Given the description of an element on the screen output the (x, y) to click on. 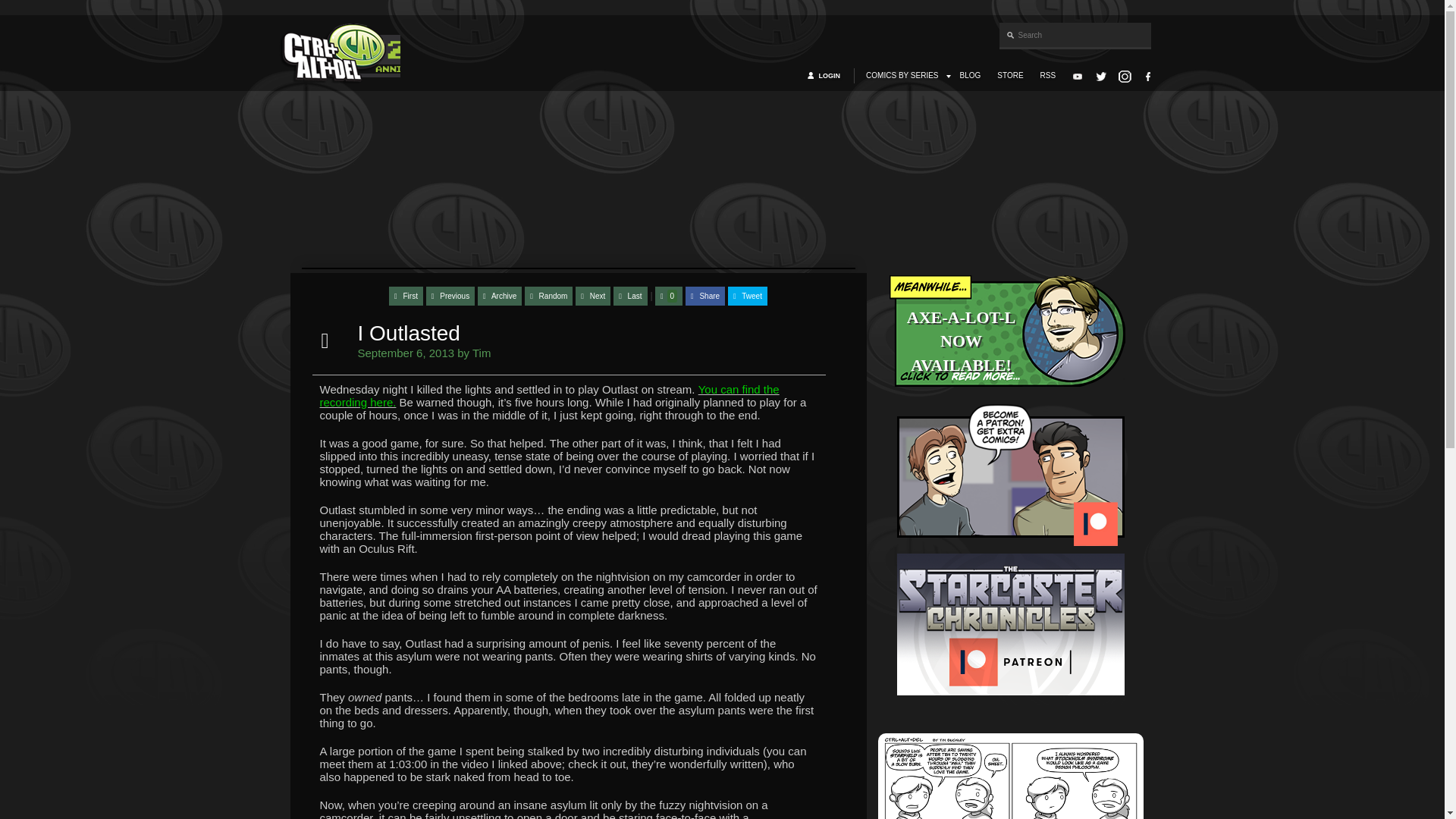
Archive (499, 295)
Blog (970, 76)
RSS (1049, 76)
First (405, 295)
Previous (450, 295)
BLOG (970, 76)
LOGIN (832, 75)
AXE-A-LOT-L NOW AVAILABLE! (1009, 335)
STORE (1010, 76)
RSS (1049, 76)
COMICS BY SERIES (901, 76)
Store (1010, 76)
Random (548, 295)
